Given the description of an element on the screen output the (x, y) to click on. 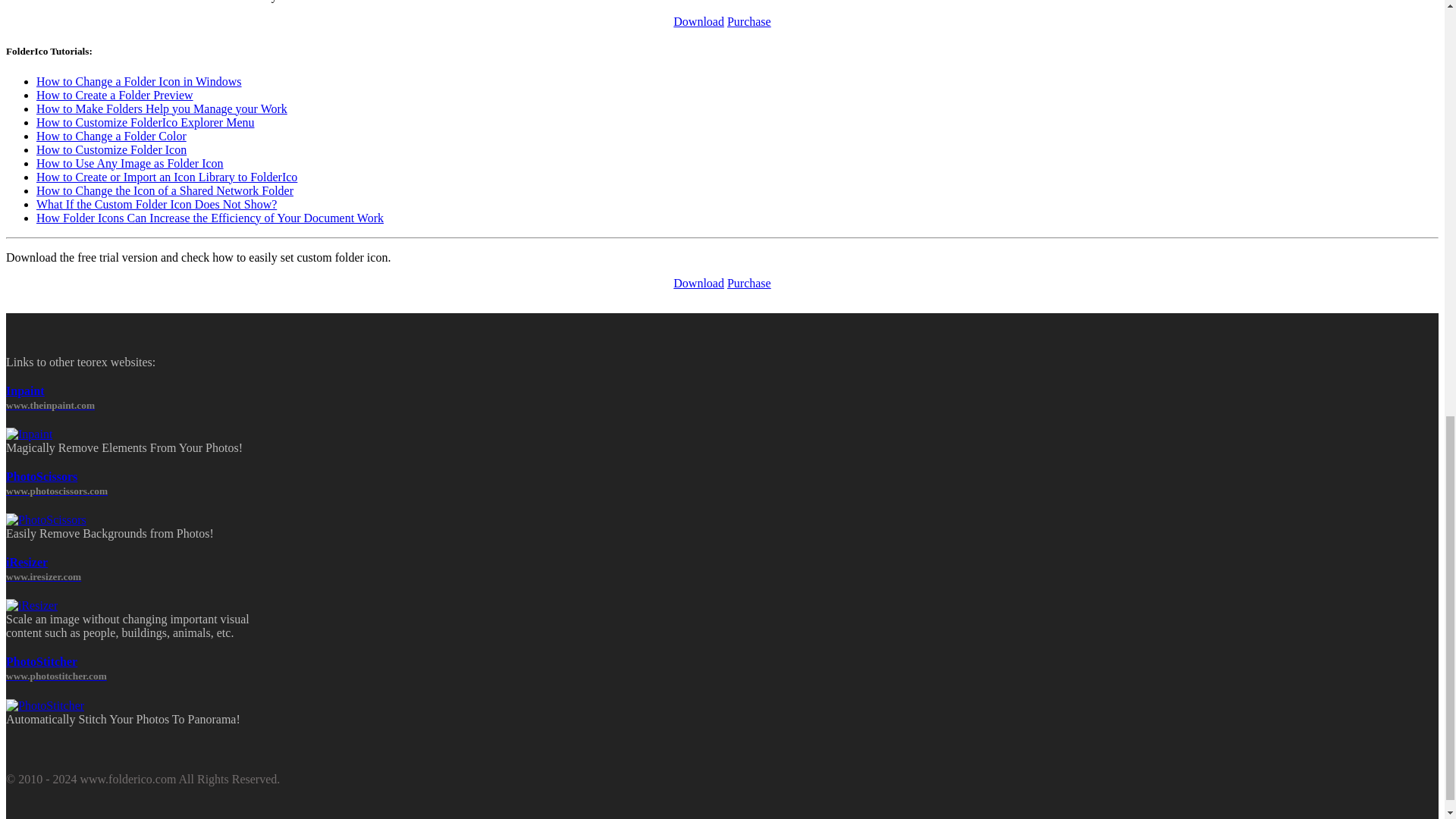
www.theinpaint.com (49, 404)
Order FolderIco (748, 282)
Inpaint (25, 390)
How to Create a Folder Preview (114, 94)
How to Make Folders Help you Manage your Work (161, 108)
Order FolderIco (748, 21)
www.photoscissors.com (56, 490)
What If the Custom Folder Icon Does Not Show? (156, 204)
How to Customize FolderIco Explorer Menu (145, 122)
How to Use Any Image as Folder Icon (130, 163)
